Given the description of an element on the screen output the (x, y) to click on. 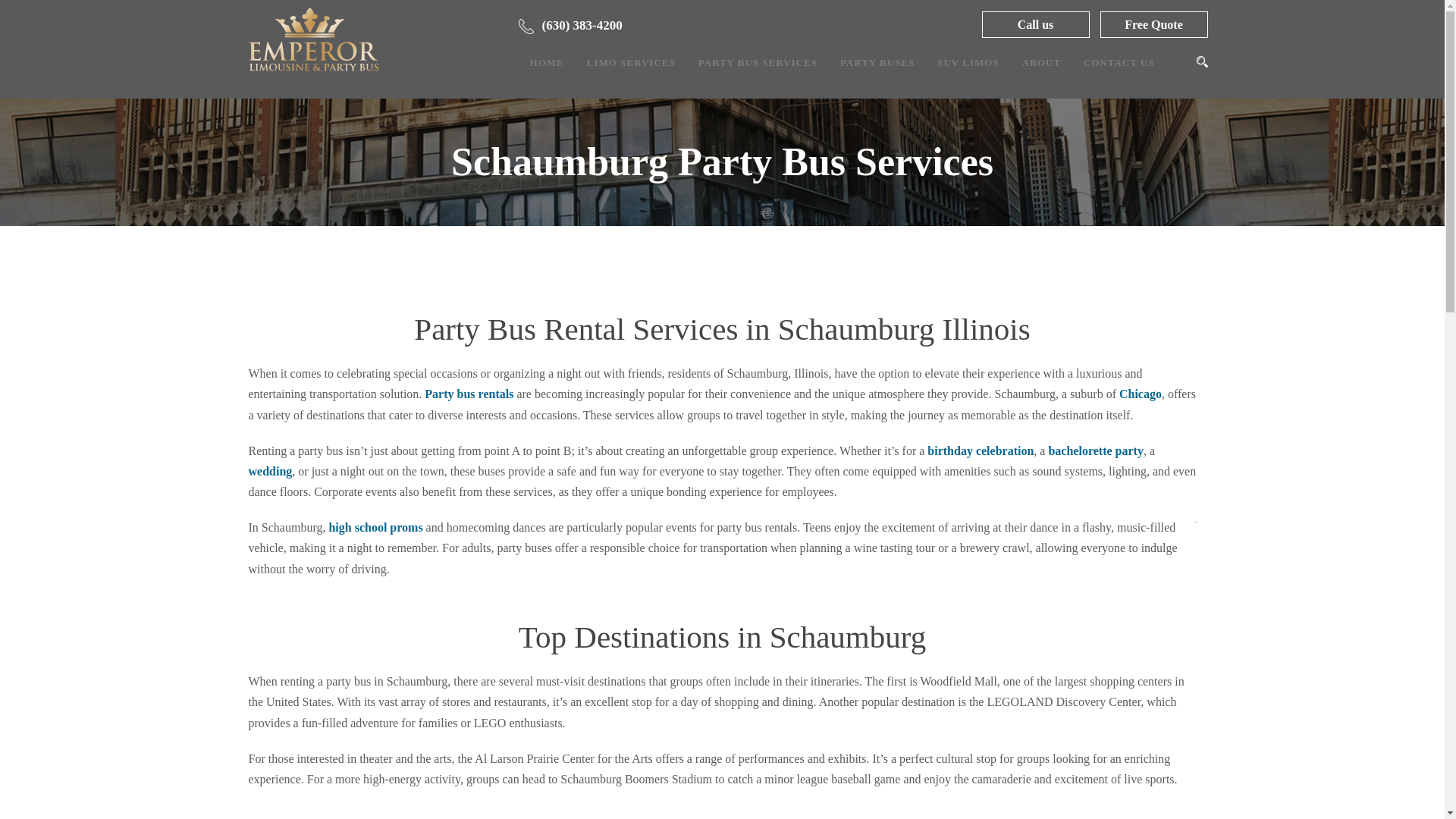
Party bus rentals (469, 393)
SUV LIMOS (967, 76)
birthday celebration (980, 450)
Submit (904, 185)
Call us (1035, 24)
PARTY BUSES (877, 76)
bachelorette party (1095, 450)
Free Quote (1153, 24)
ABOUT (1041, 62)
wedding (270, 471)
